Given the description of an element on the screen output the (x, y) to click on. 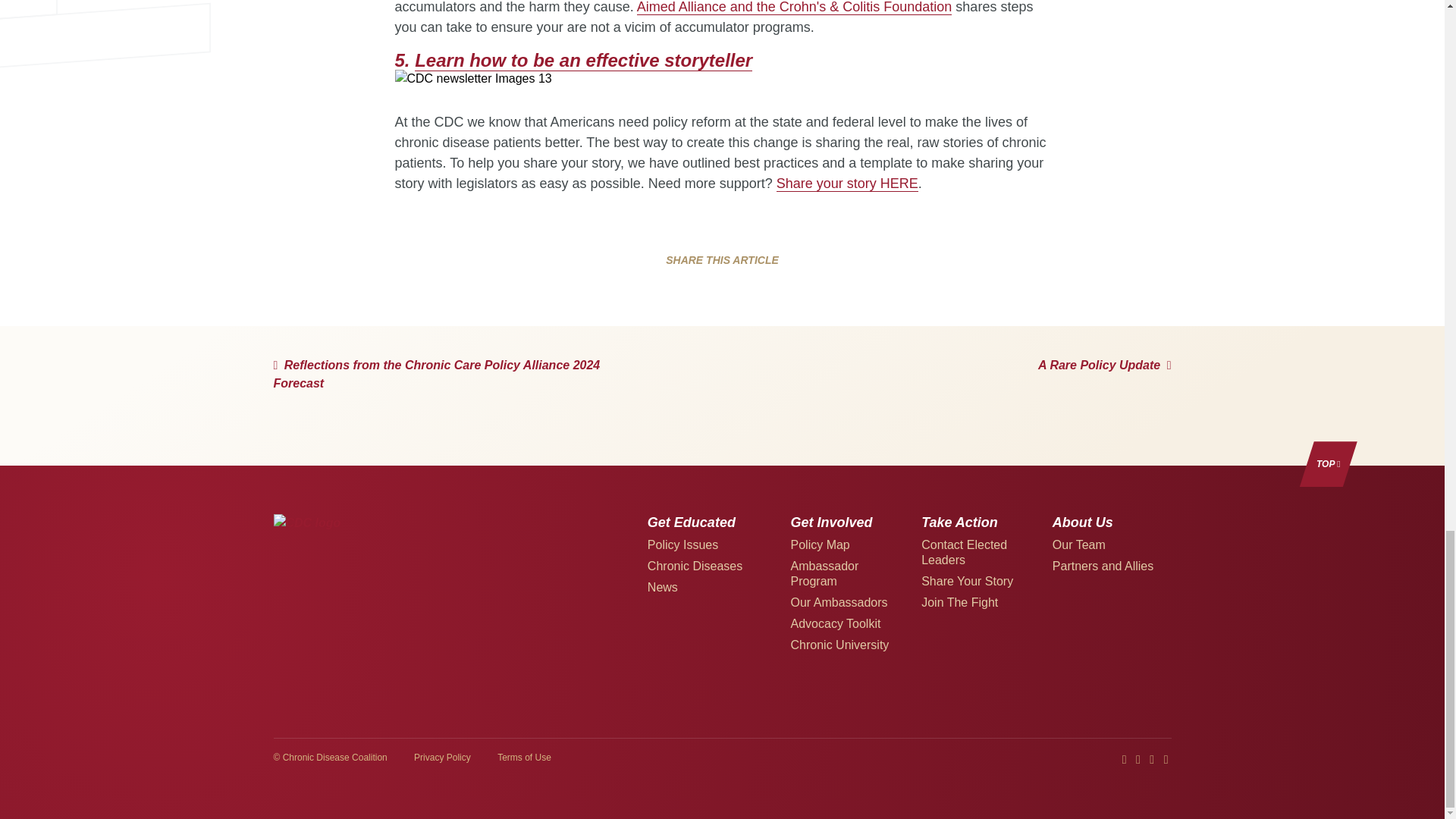
Learn how to be an effective storyteller (583, 60)
Share your story HERE (847, 183)
